Given the description of an element on the screen output the (x, y) to click on. 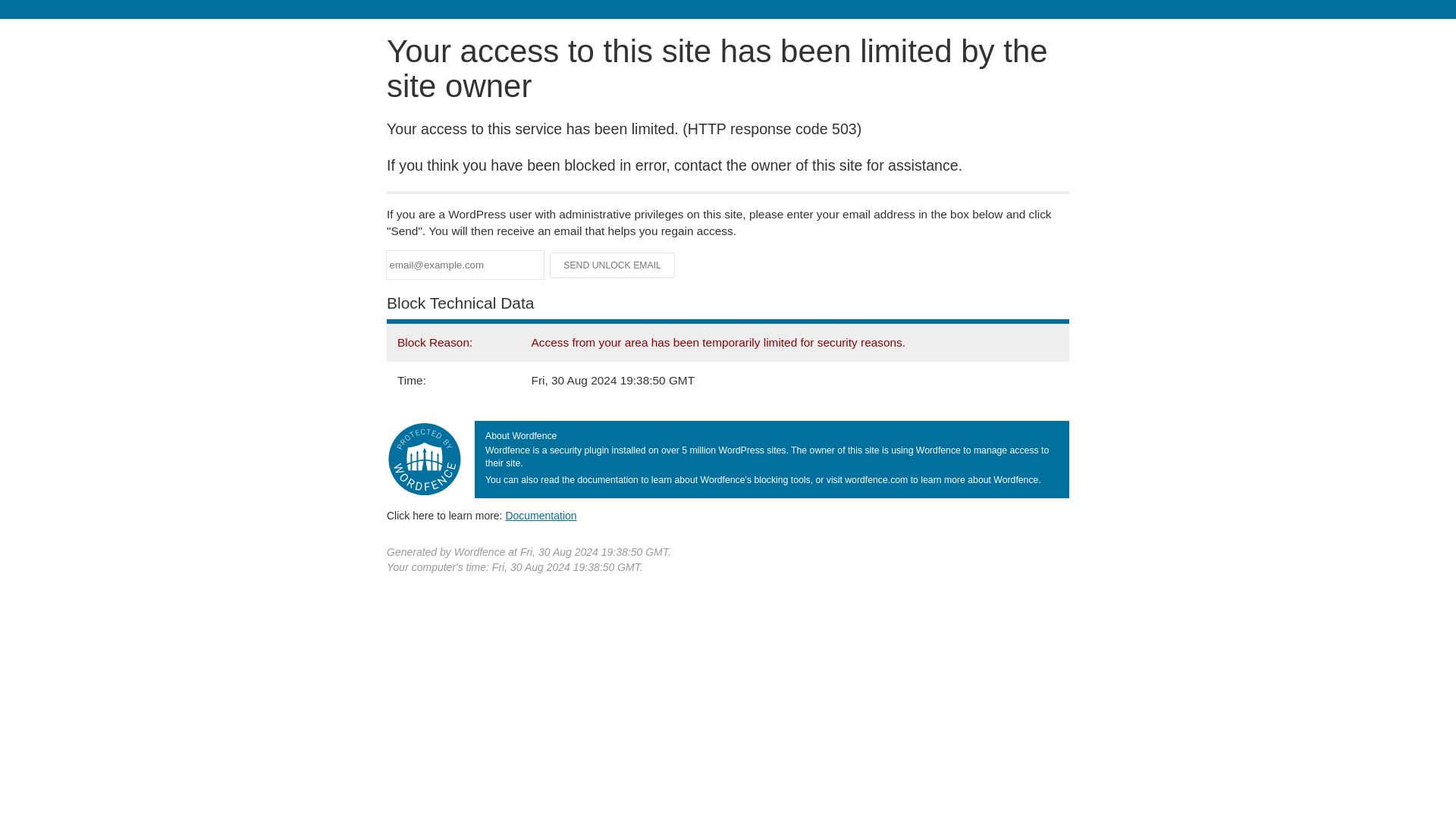
Send Unlock Email (612, 265)
Send Unlock Email (612, 265)
Documentation (540, 515)
